Given the description of an element on the screen output the (x, y) to click on. 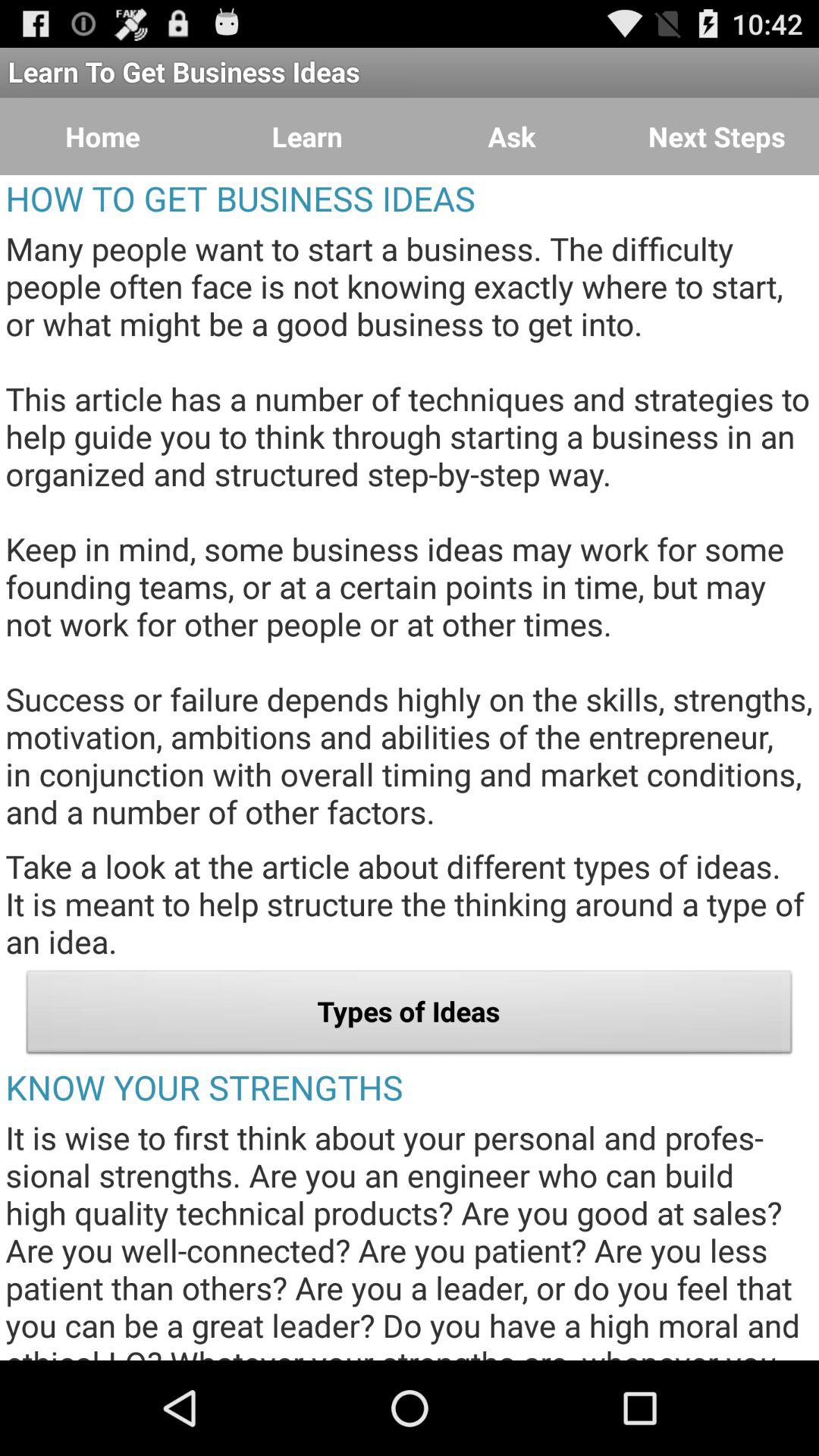
jump until the next steps icon (716, 136)
